Given the description of an element on the screen output the (x, y) to click on. 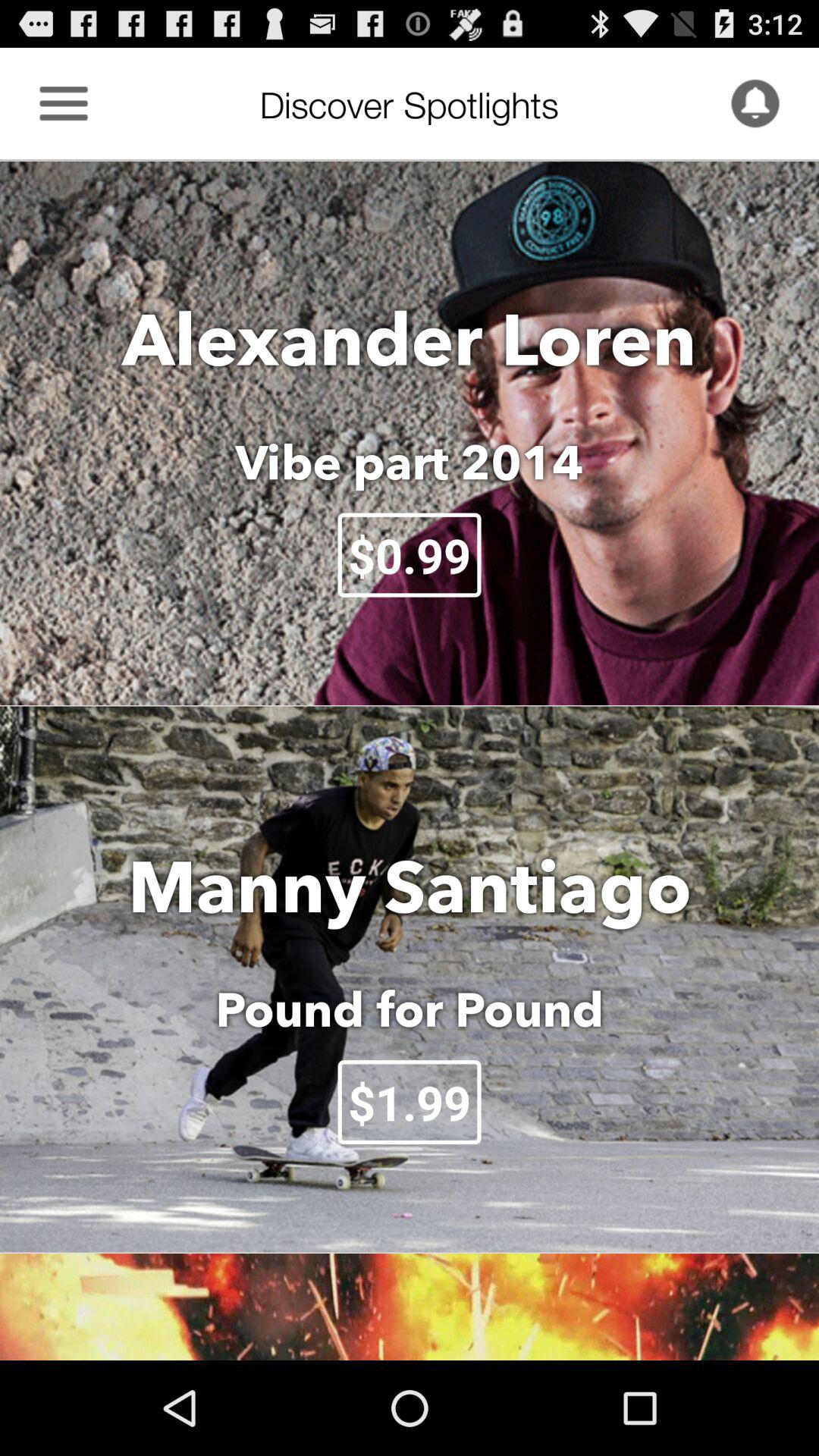
open the item at the top right corner (755, 103)
